Given the description of an element on the screen output the (x, y) to click on. 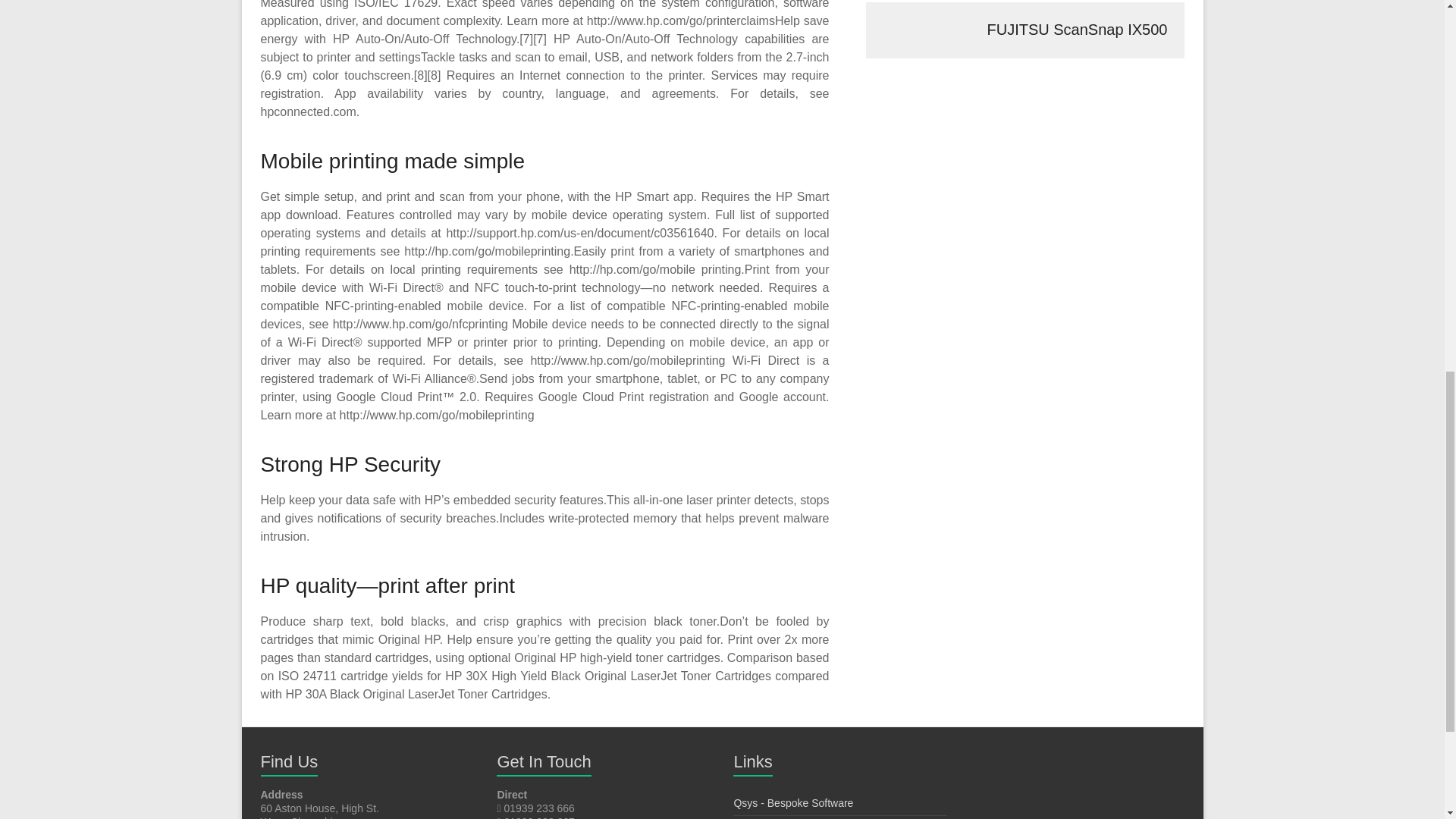
FUJITSU ScanSnap IX500 (1025, 29)
Qsys - Bespoke Software (793, 802)
